Given the description of an element on the screen output the (x, y) to click on. 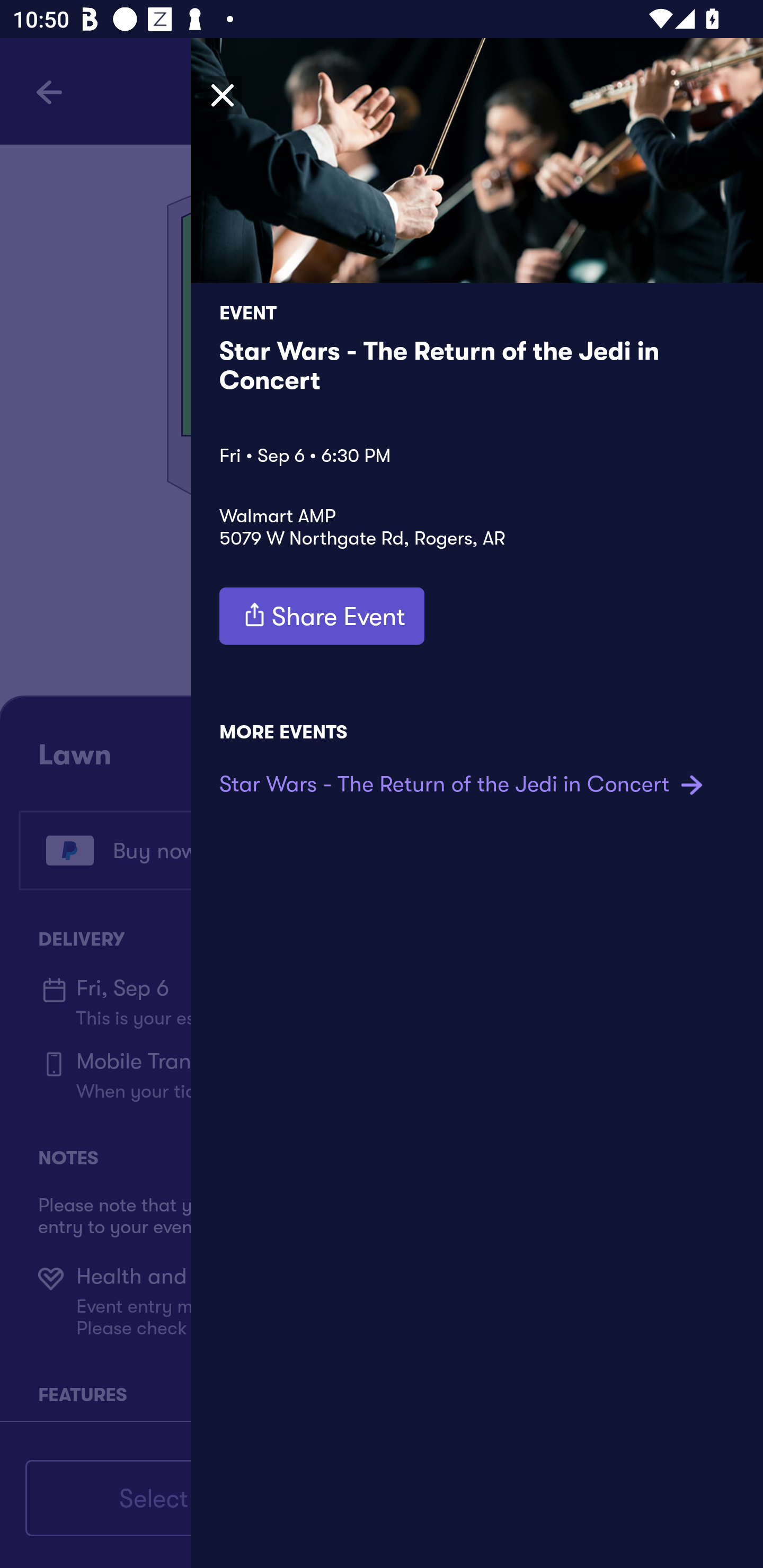
Share Event (321, 616)
Star Wars - The Return of the Jedi in Concert (463, 783)
